Given the description of an element on the screen output the (x, y) to click on. 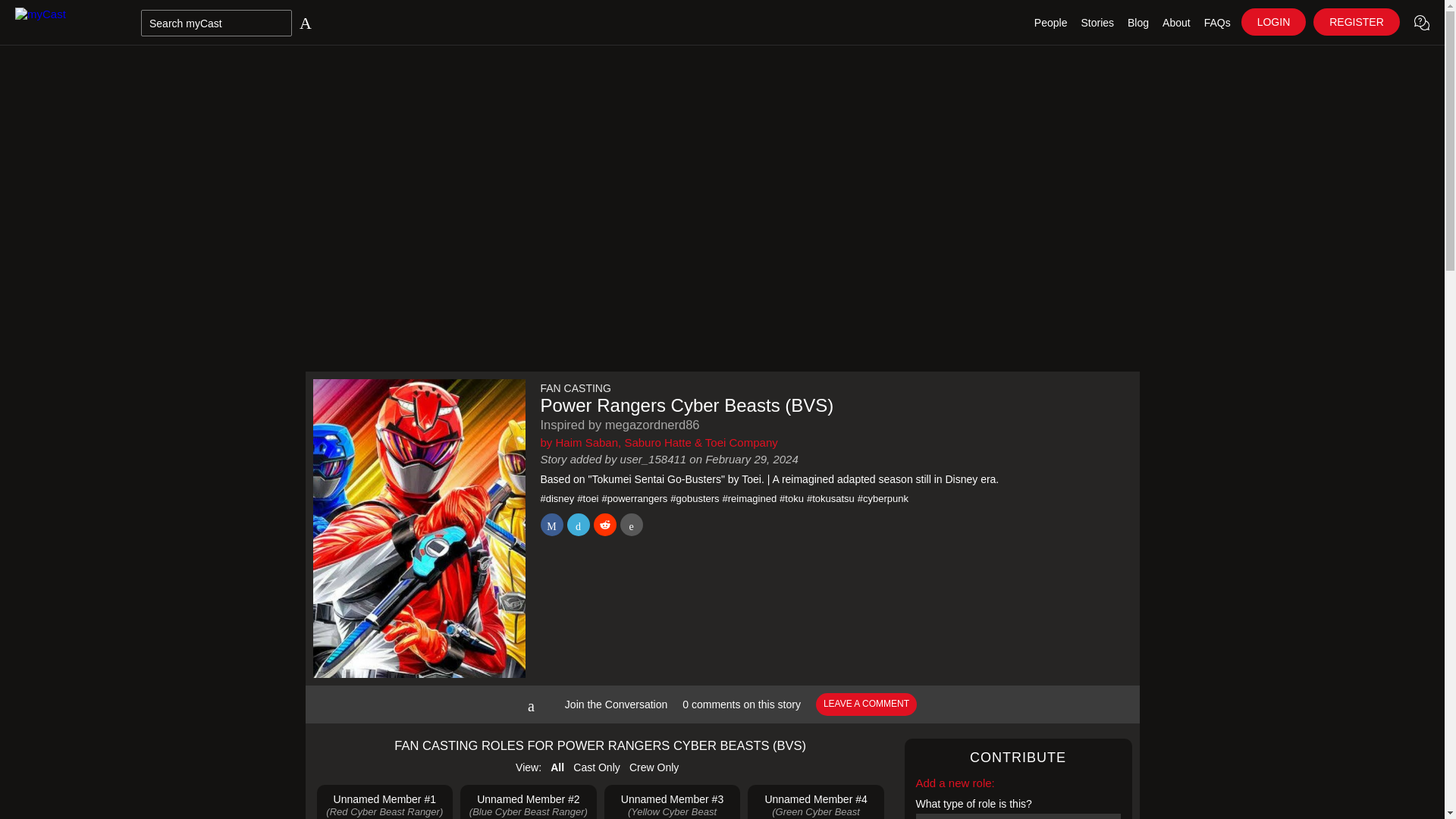
LOGIN (1273, 22)
FAQs (1216, 22)
People (1050, 22)
Blog (1138, 22)
About (1176, 22)
Stories (1097, 22)
